Given the description of an element on the screen output the (x, y) to click on. 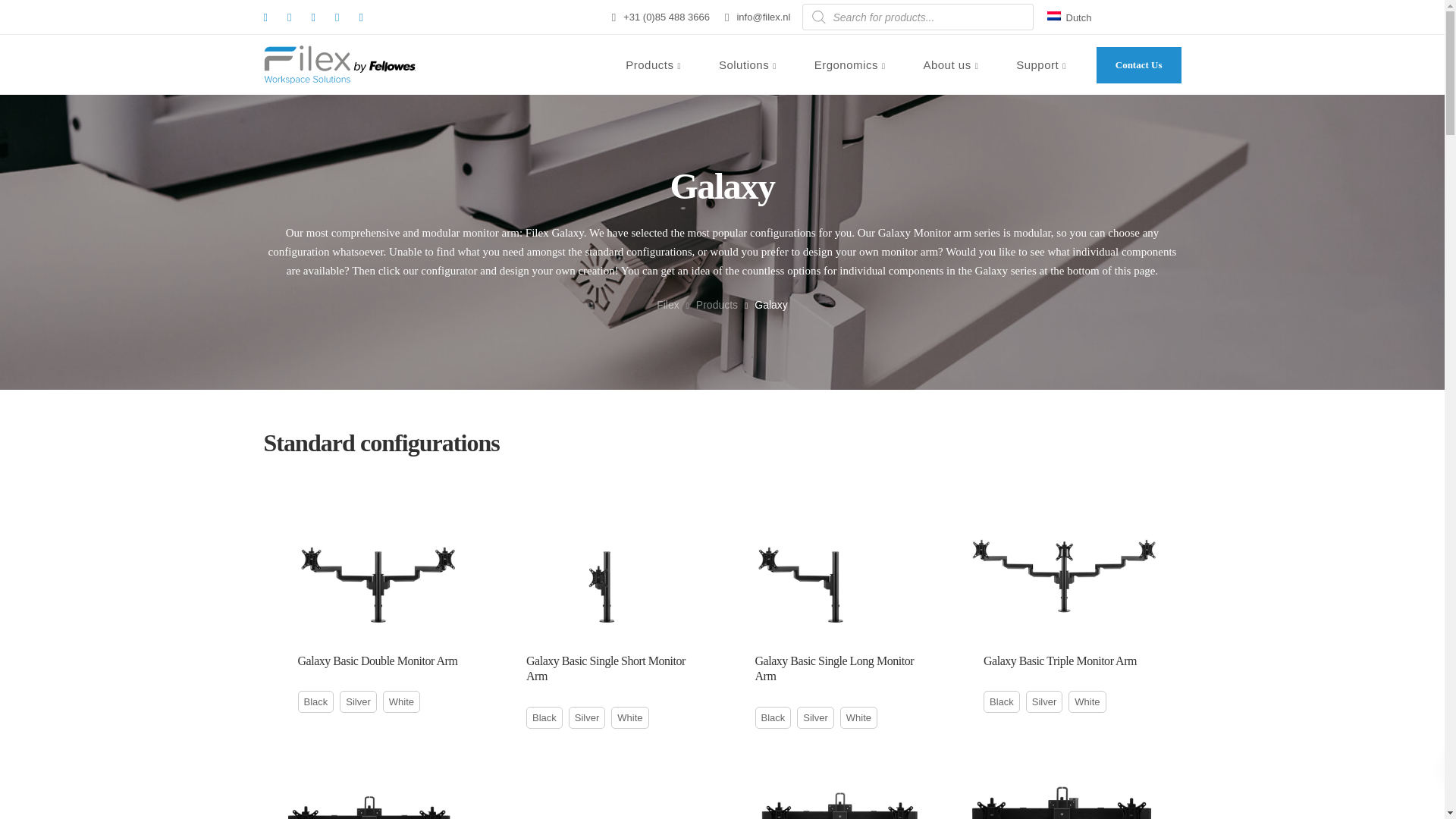
Dutch (1073, 16)
Products (653, 65)
Products (653, 65)
